Given the description of an element on the screen output the (x, y) to click on. 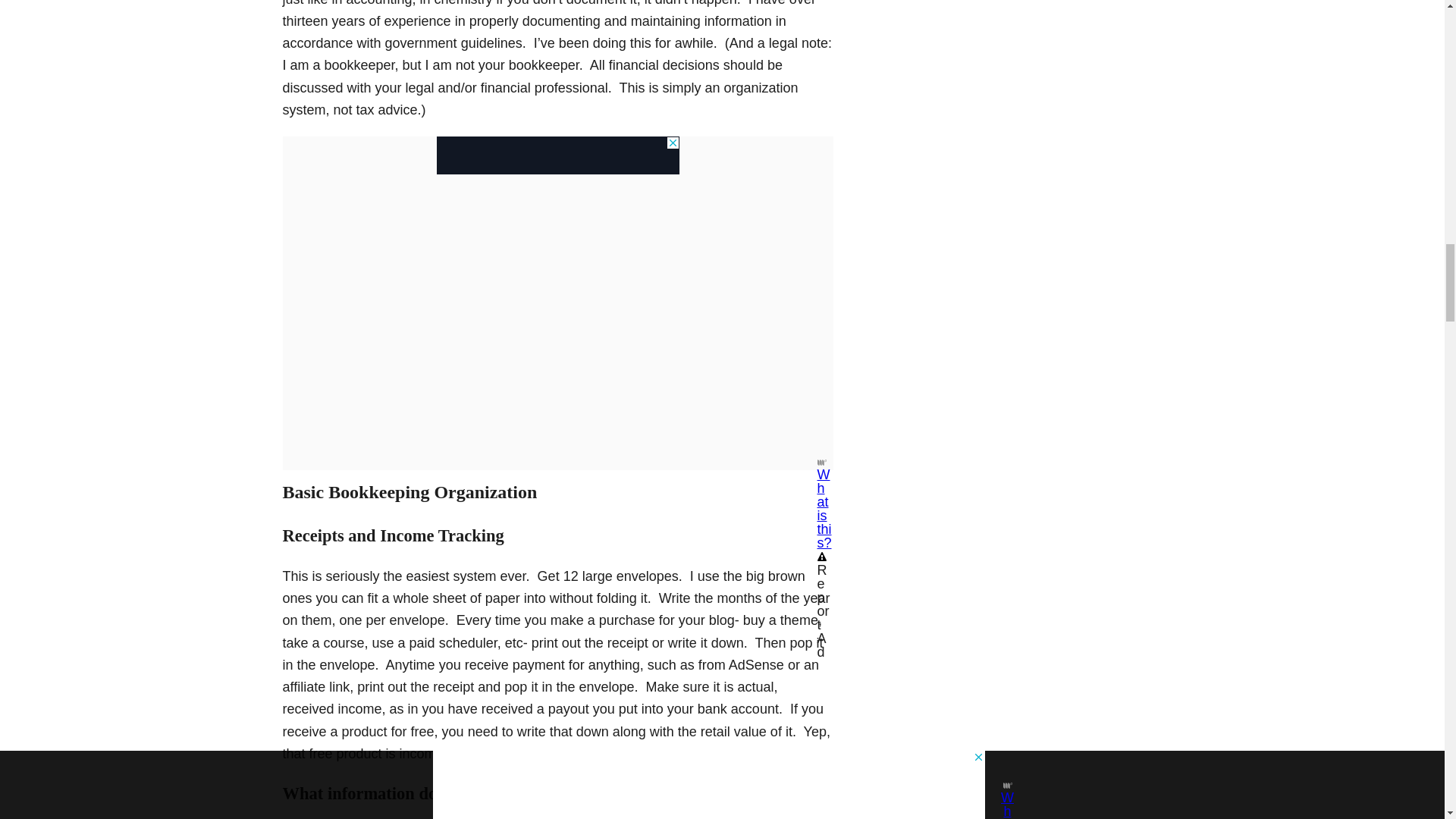
3rd party ad content (557, 155)
